Given the description of an element on the screen output the (x, y) to click on. 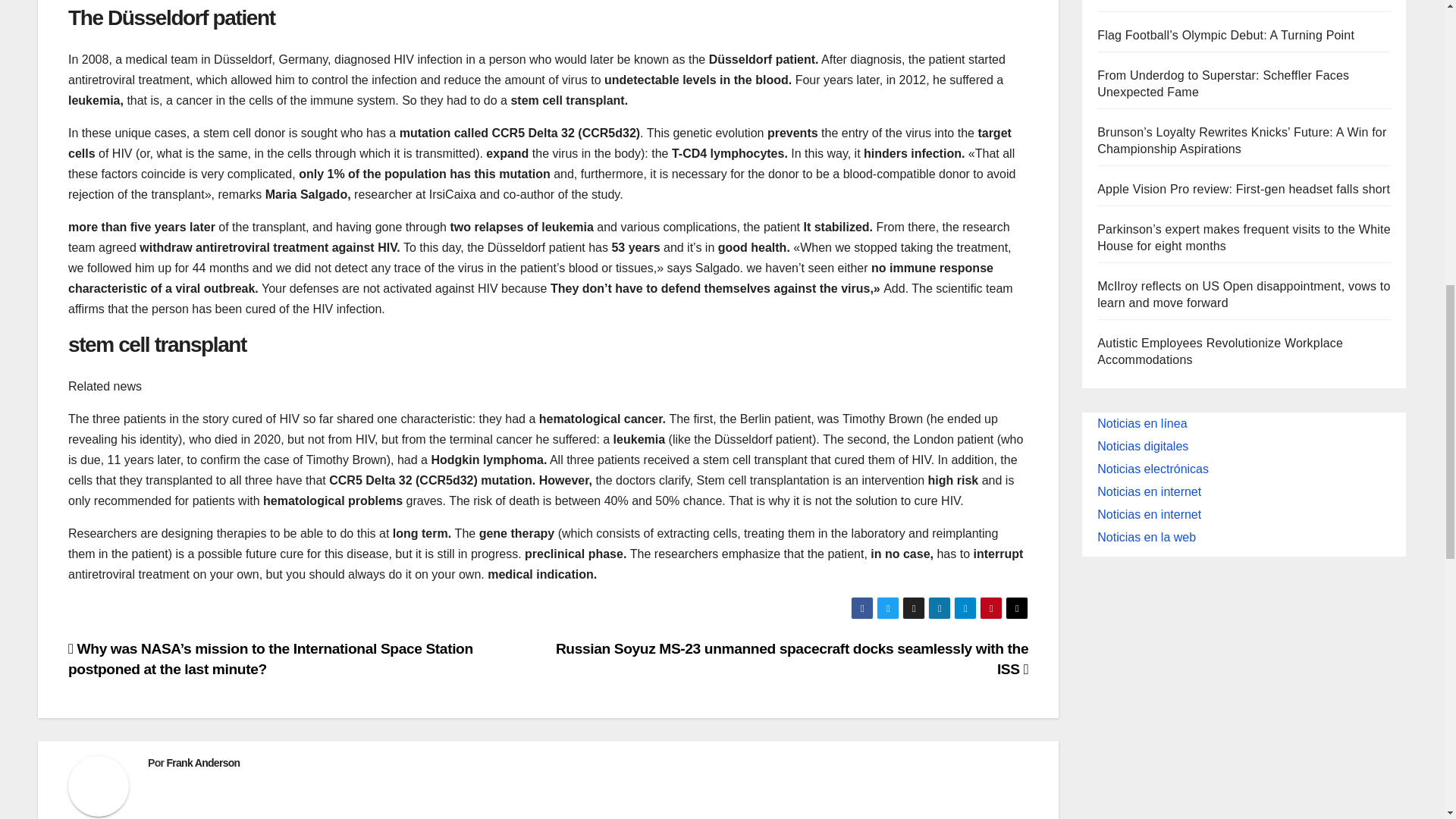
Frank Anderson (202, 762)
